Given the description of an element on the screen output the (x, y) to click on. 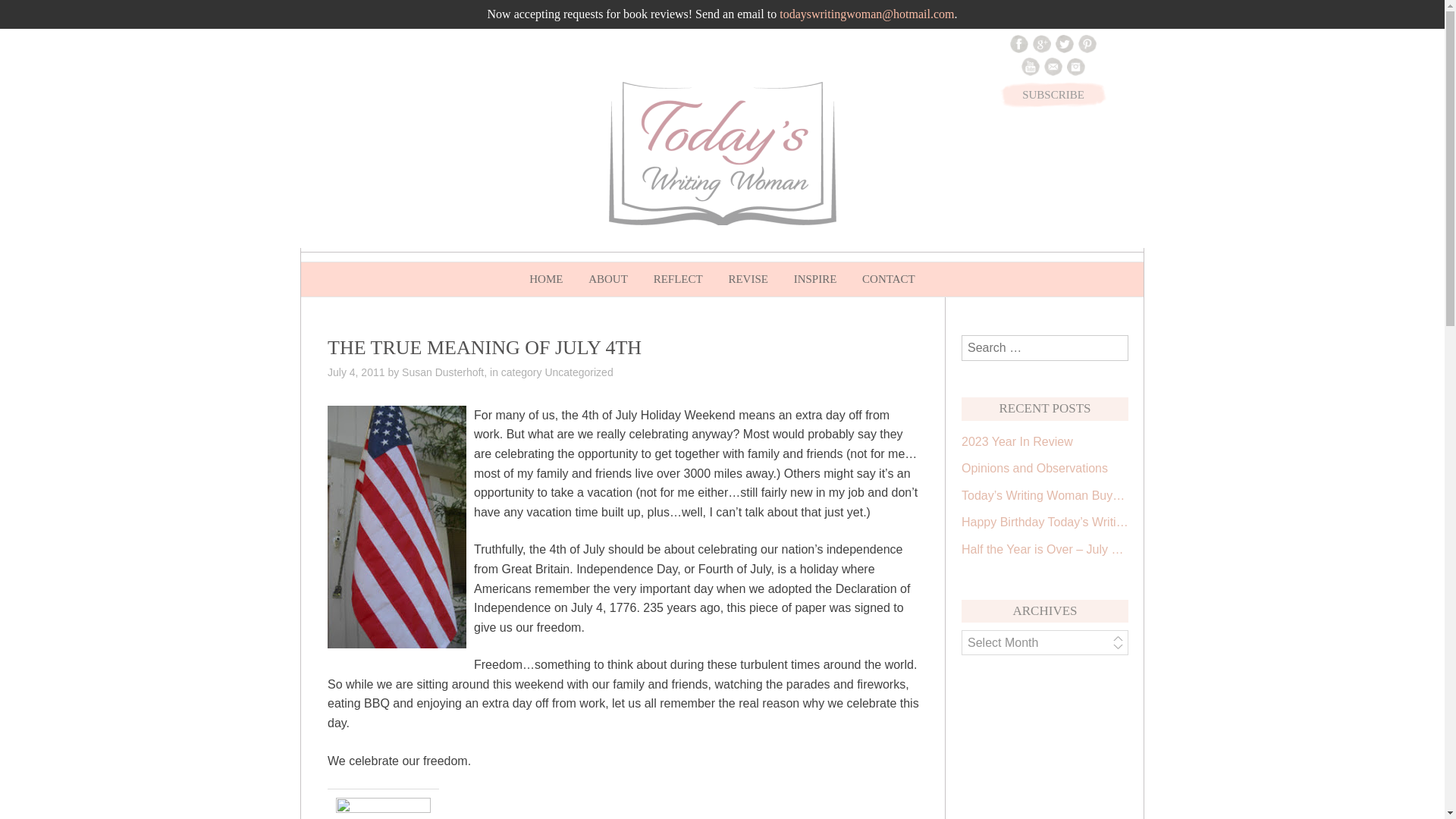
REFLECT (678, 279)
CONTACT (888, 279)
SKIP TO CONTENT (337, 272)
REVISE (747, 279)
INSPIRE (815, 279)
ABOUT (607, 279)
HOME (545, 279)
July 4, 2011 (356, 372)
Uncategorized (578, 372)
SUBSCRIBE (1052, 94)
Susan Dusterhoft (442, 372)
